Given the description of an element on the screen output the (x, y) to click on. 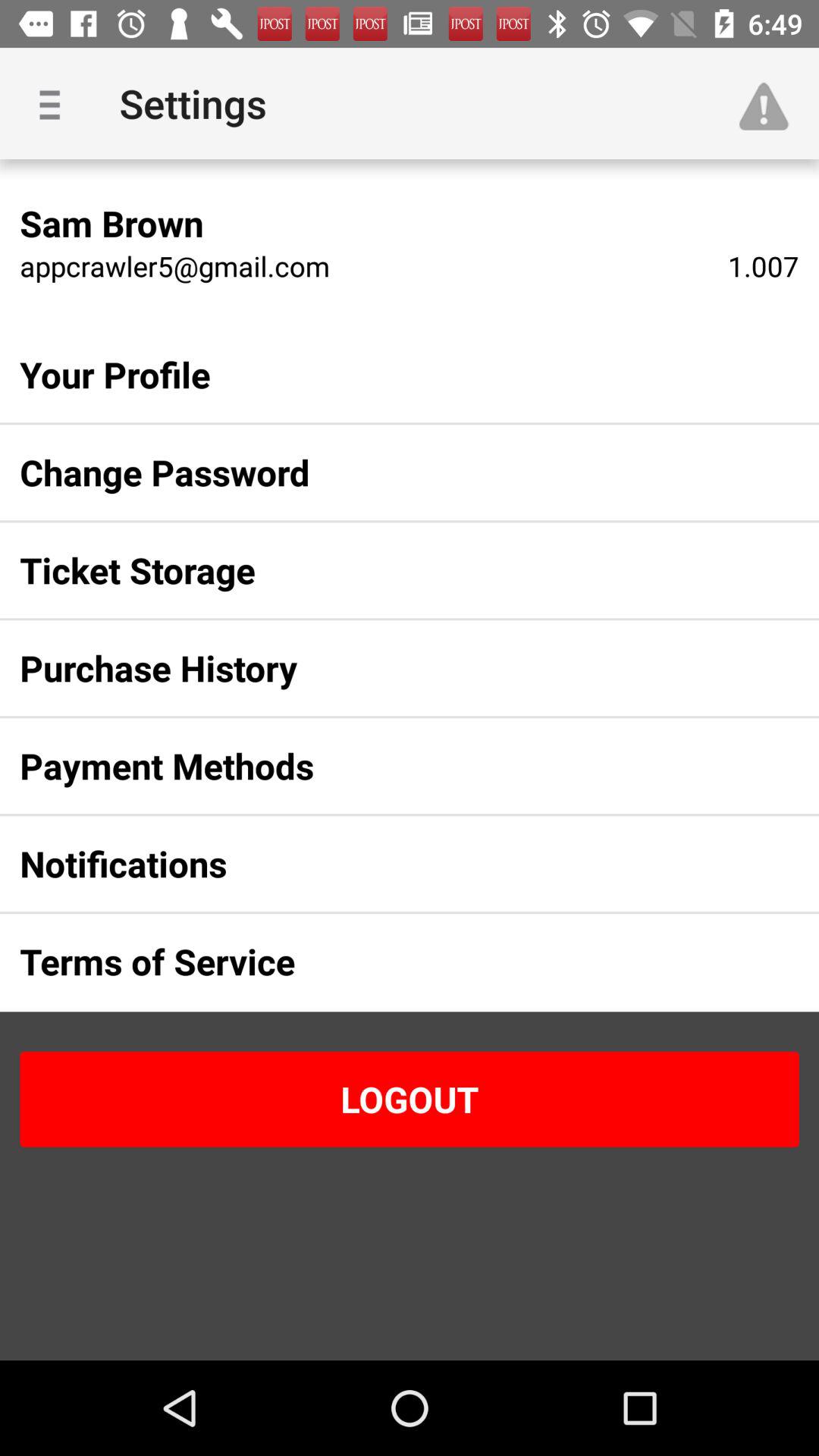
scroll until the purchase history item (385, 668)
